Given the description of an element on the screen output the (x, y) to click on. 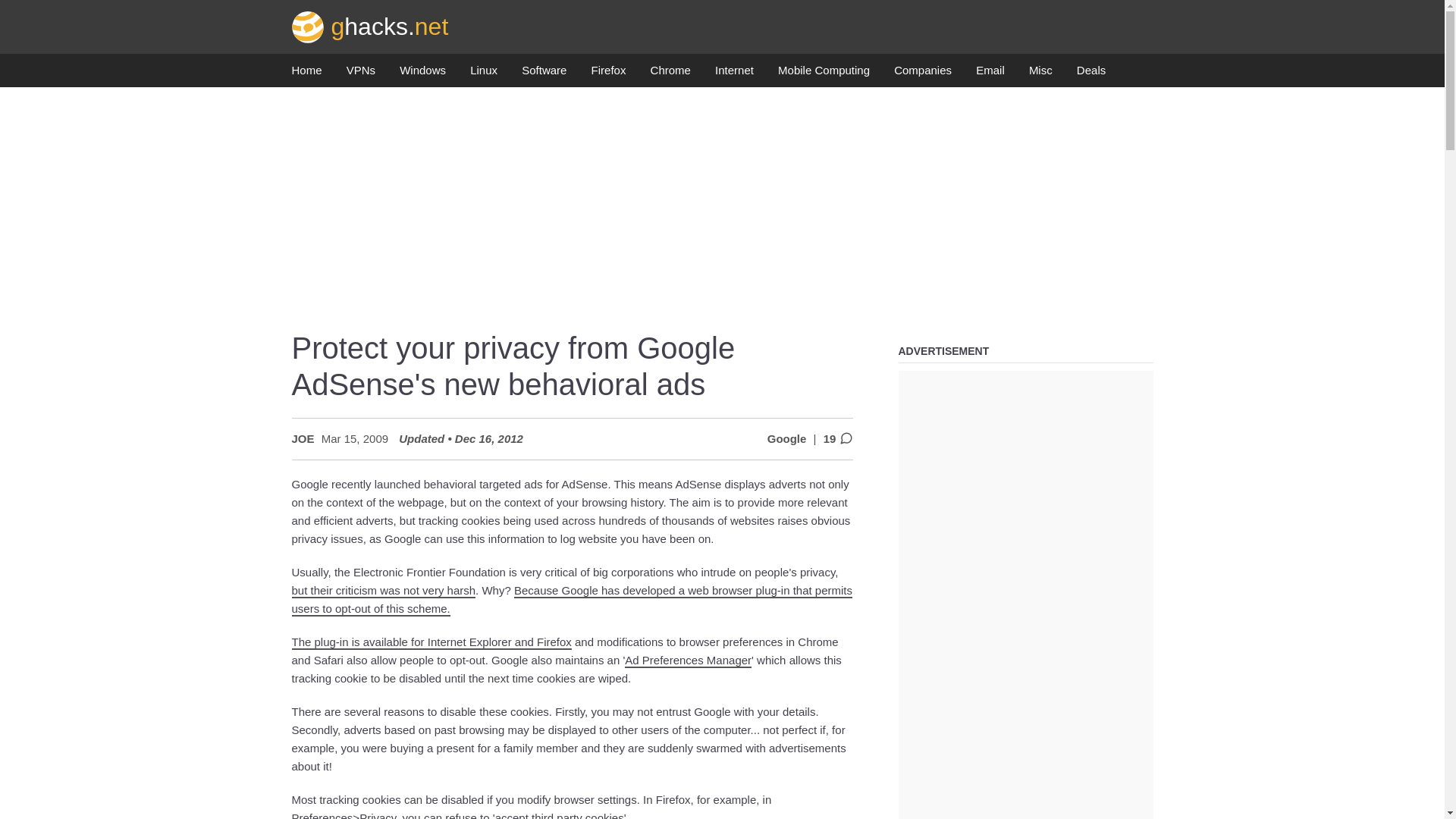
Home (306, 73)
Mobile Computing (823, 73)
Companies (922, 73)
Internet (734, 73)
Deals (1091, 73)
Software (543, 73)
Email (989, 73)
Chrome (670, 73)
ghacks.net (369, 26)
Misc (1040, 73)
